Given the description of an element on the screen output the (x, y) to click on. 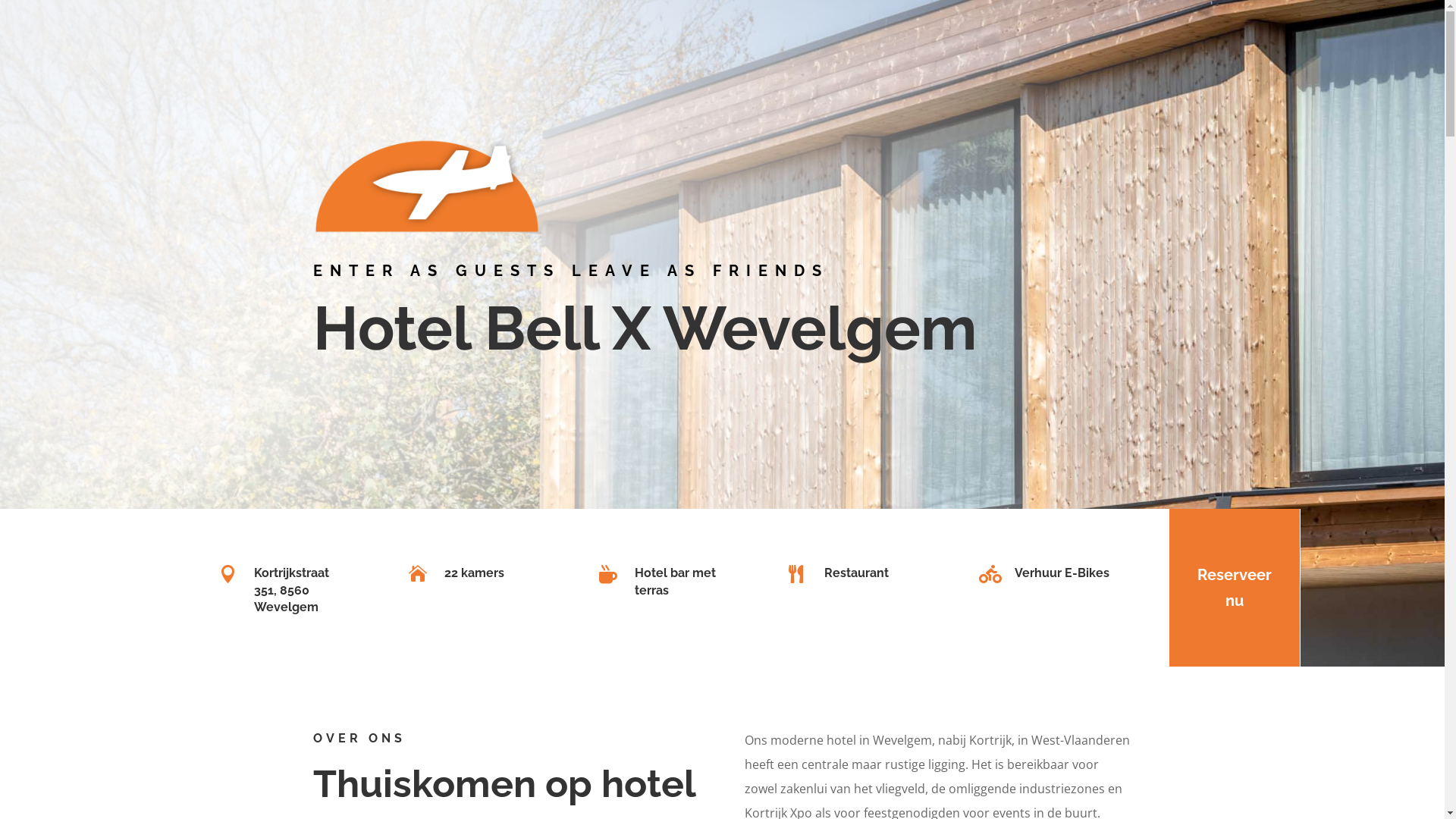
Reserveer nu Element type: text (1234, 587)
BellXNoPadding Element type: hover (425, 185)
